Given the description of an element on the screen output the (x, y) to click on. 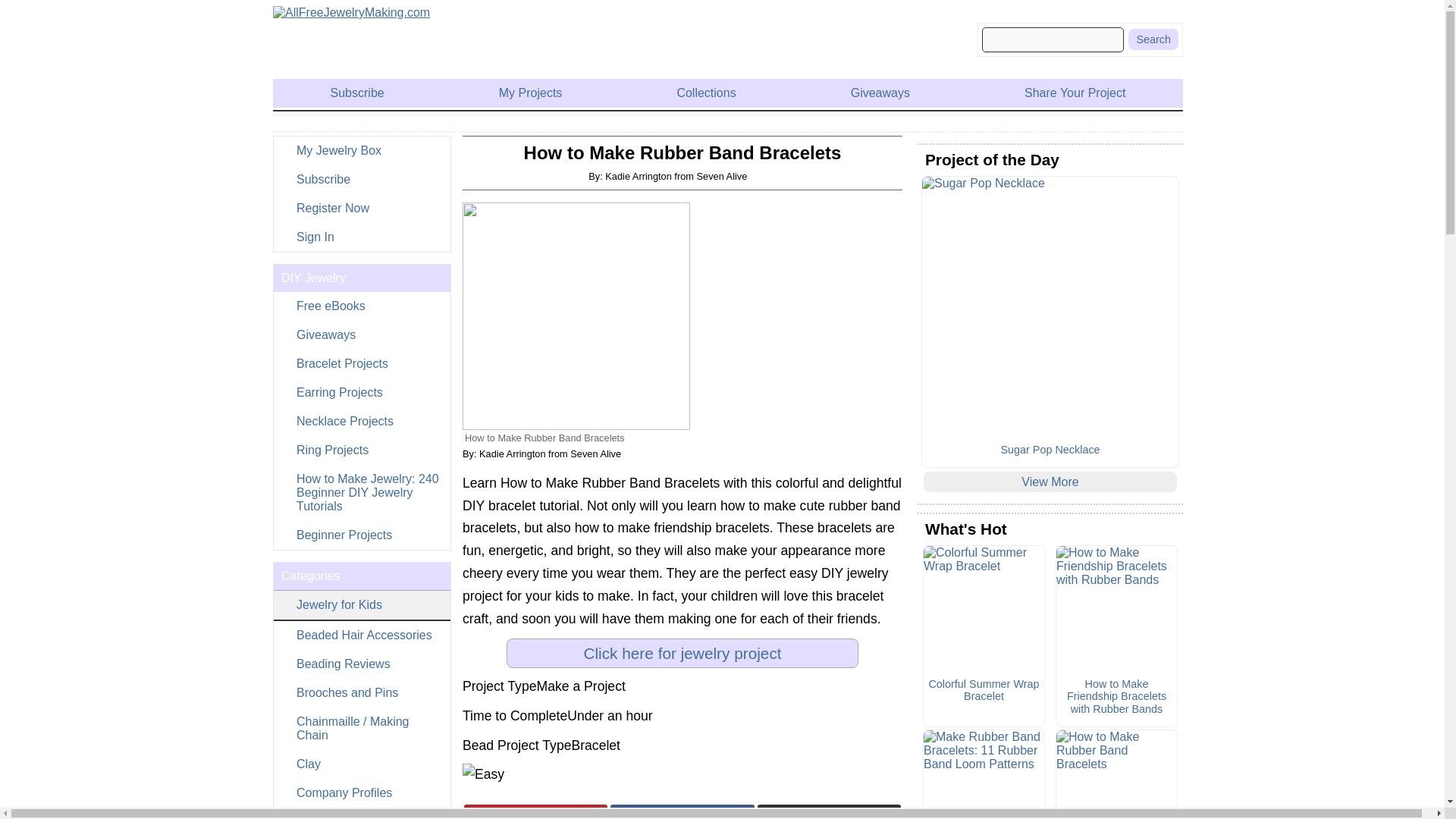
Register Now (361, 208)
Facebook (682, 811)
Sign In (361, 236)
Search (1152, 38)
Subscribe (361, 179)
Email (829, 811)
My Jewelry Box (361, 150)
How to Make Rubber Band Bracelets (576, 315)
